Given the description of an element on the screen output the (x, y) to click on. 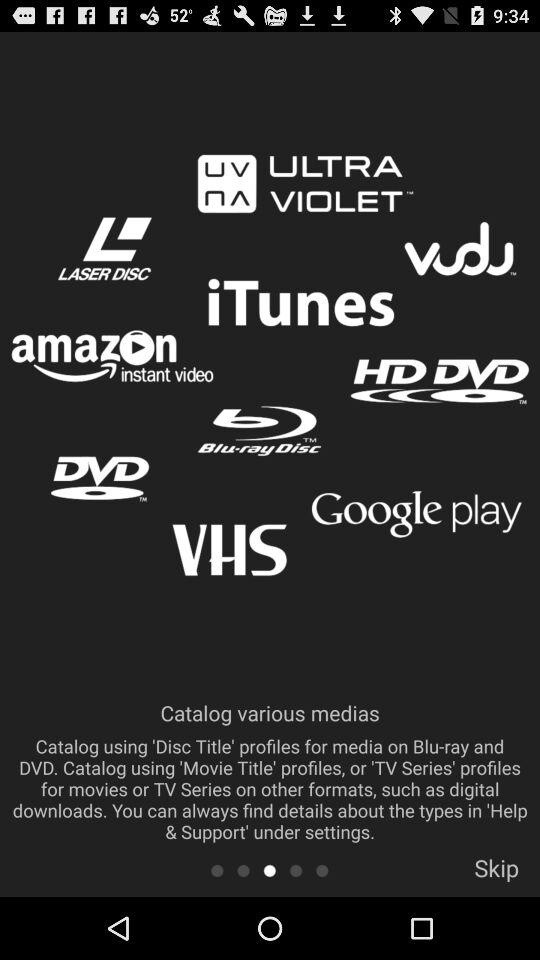
back to (216, 870)
